Given the description of an element on the screen output the (x, y) to click on. 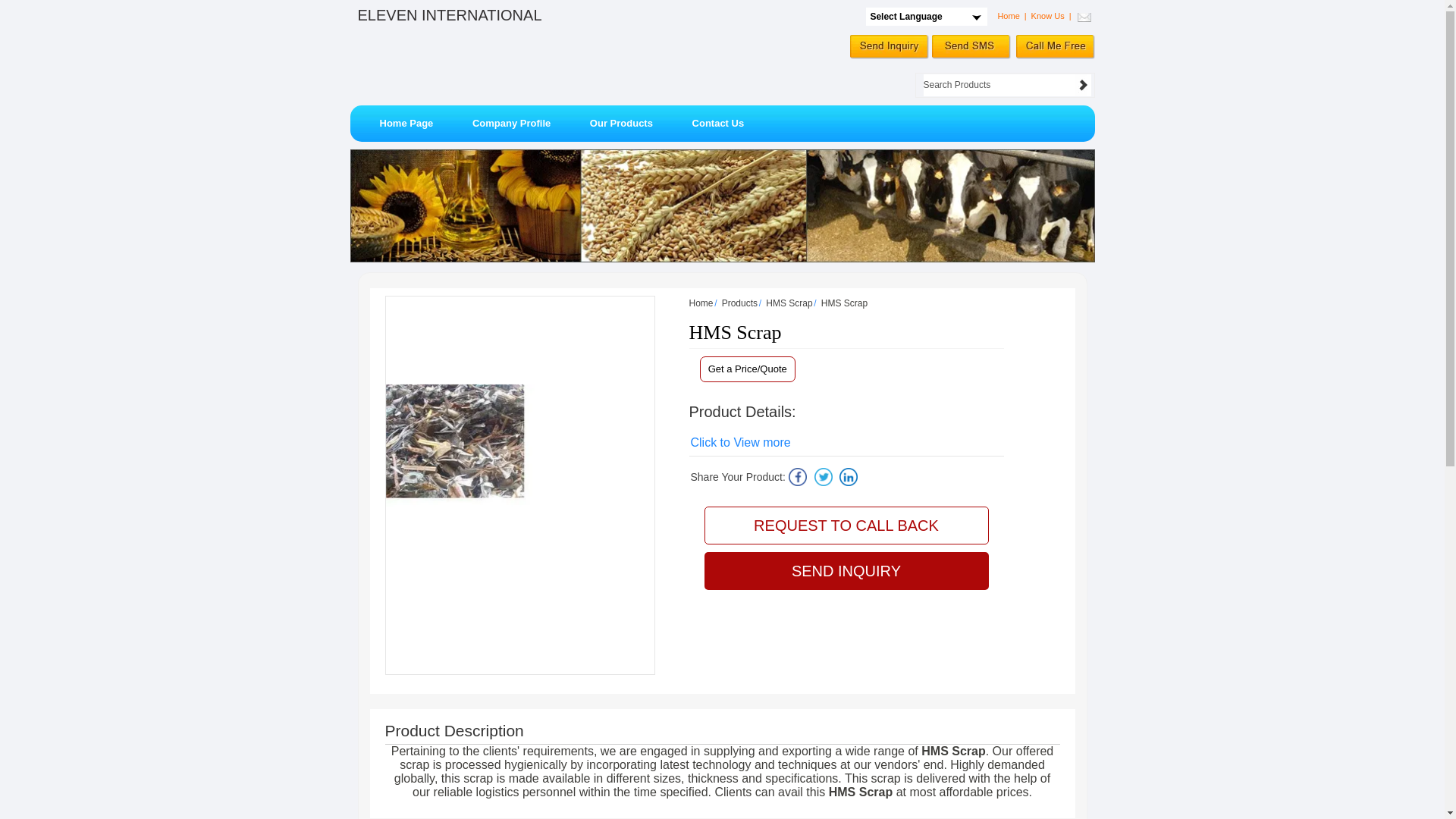
HMS Scrap (788, 303)
Home (700, 303)
REQUEST TO CALL BACK (845, 525)
Company Profile (511, 123)
Send Inquiry (889, 46)
Home (1008, 15)
ELEVEN INTERNATIONAL (449, 13)
Click to View more (740, 442)
Search Products (999, 85)
Know Us (1047, 15)
